Given the description of an element on the screen output the (x, y) to click on. 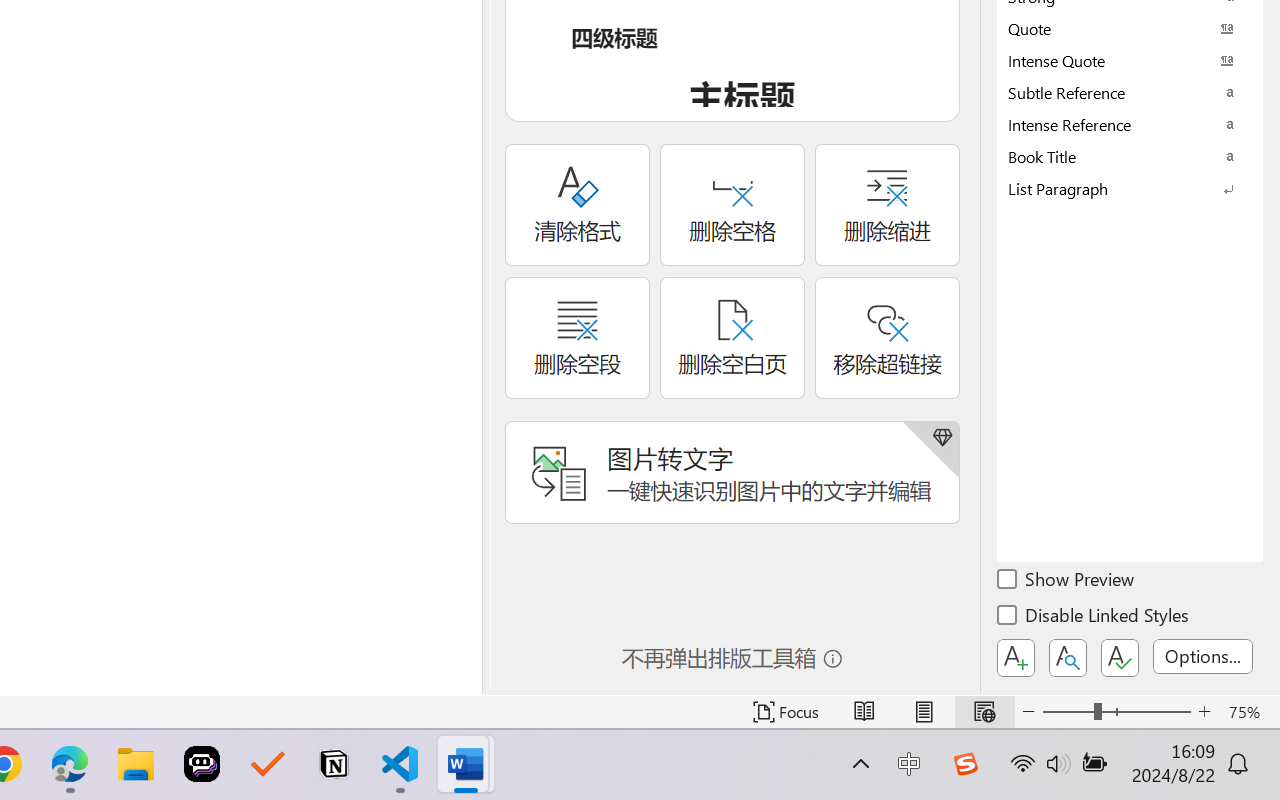
List Paragraph (1130, 188)
Options... (1203, 656)
Zoom In (1204, 712)
Intense Quote (1130, 60)
Book Title (1130, 156)
Zoom (1116, 712)
Class: NetUIImage (1116, 188)
Class: Image (965, 764)
Show Preview (1067, 582)
